Given the description of an element on the screen output the (x, y) to click on. 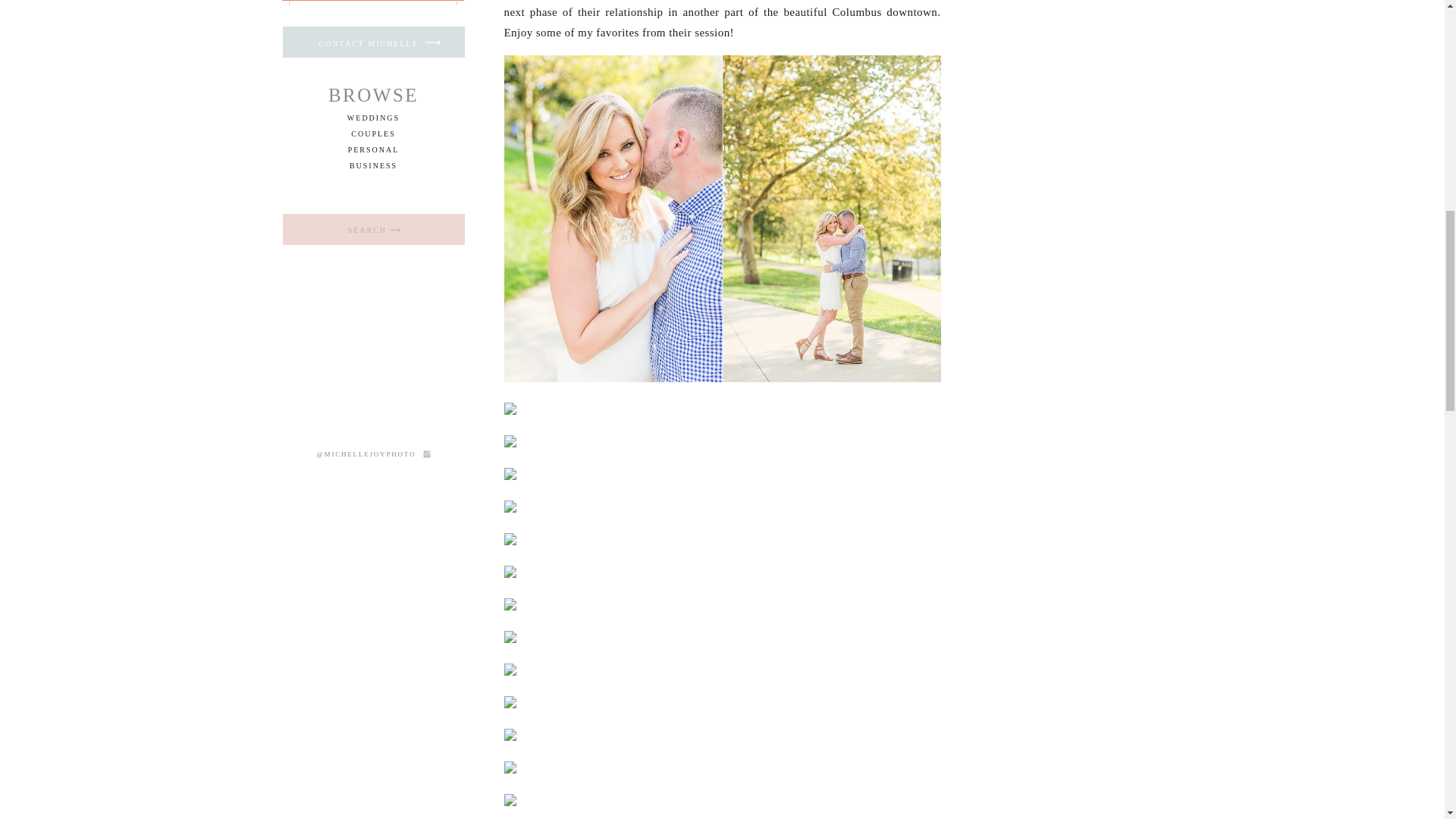
CONTACT MICHELLE (381, 42)
WEDDINGS (372, 117)
COUPLES (372, 133)
PERSONAL (372, 149)
BUSINESS (373, 165)
